Given the description of an element on the screen output the (x, y) to click on. 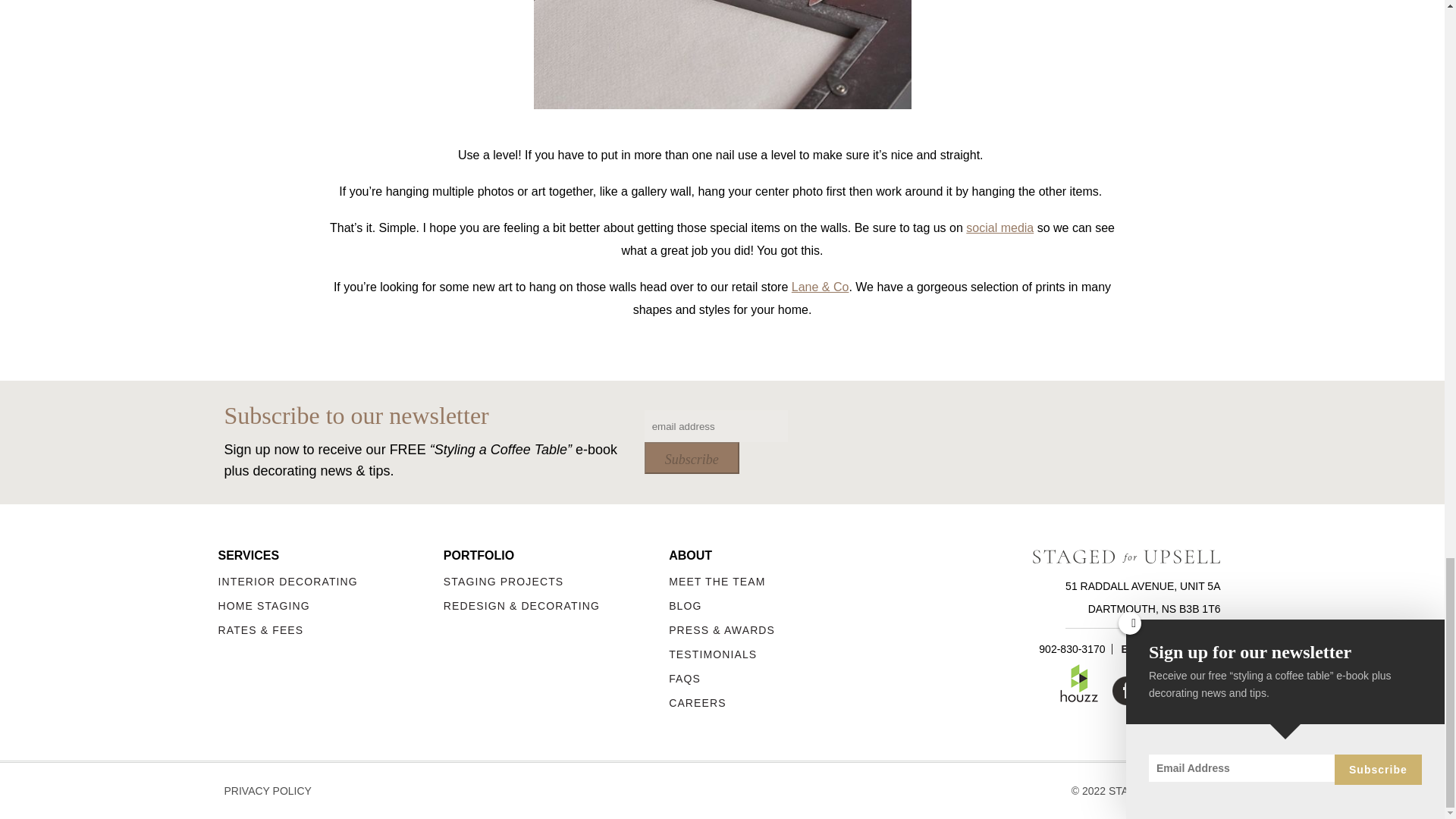
Subscribe (692, 458)
social media (999, 227)
INTERIOR DECORATING (331, 581)
HOME STAGING (331, 605)
Subscribe (692, 458)
